Given the description of an element on the screen output the (x, y) to click on. 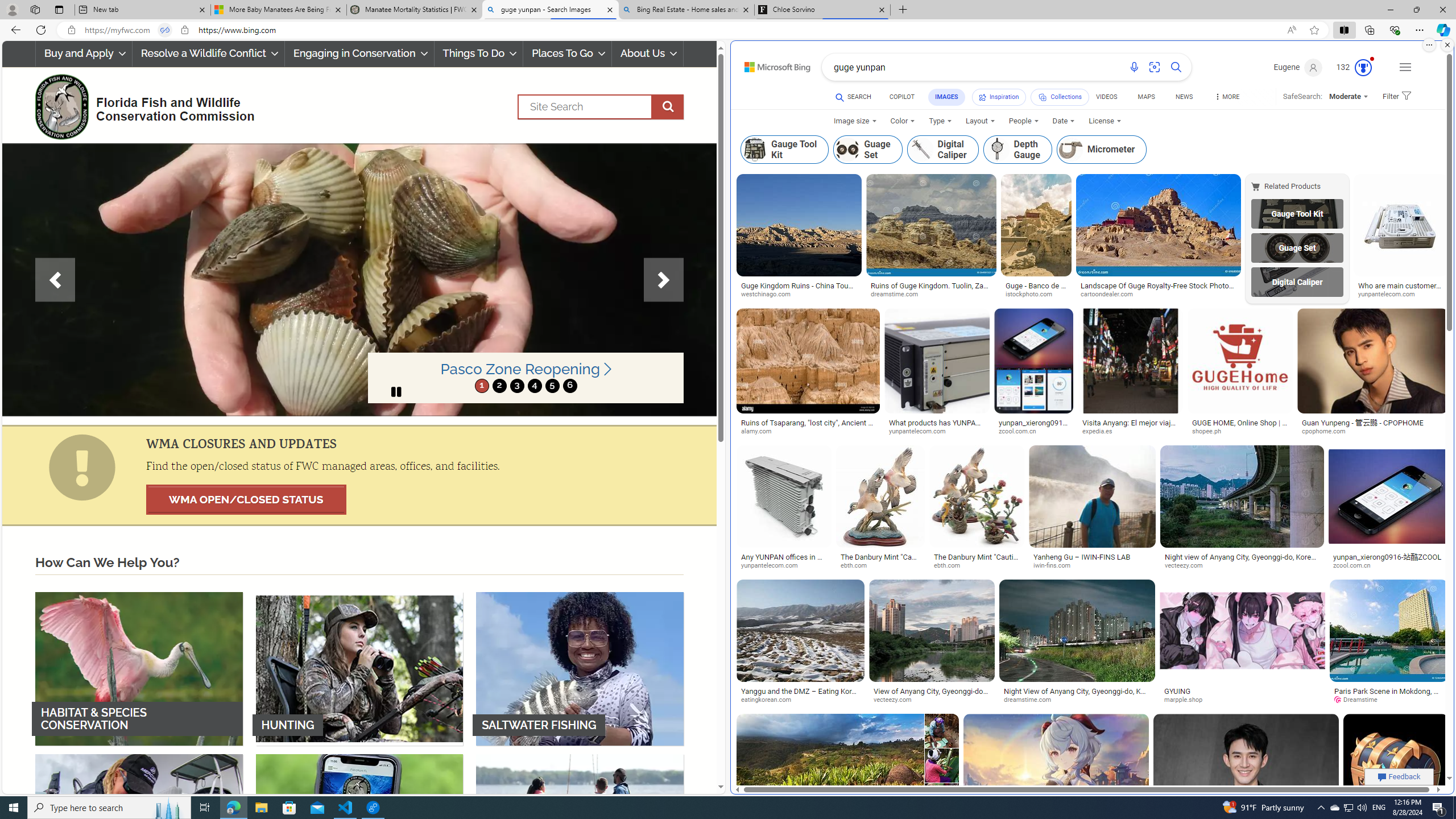
Guage Set (1296, 247)
Gauge Tool Kit (1296, 213)
License (1104, 121)
Moderate SafeSearch: (1348, 96)
Manatee Mortality Statistics | FWC (414, 9)
Moderate (1348, 96)
Bing Real Estate - Home sales and rental listings (685, 9)
westchinago.com (769, 294)
